Given the description of an element on the screen output the (x, y) to click on. 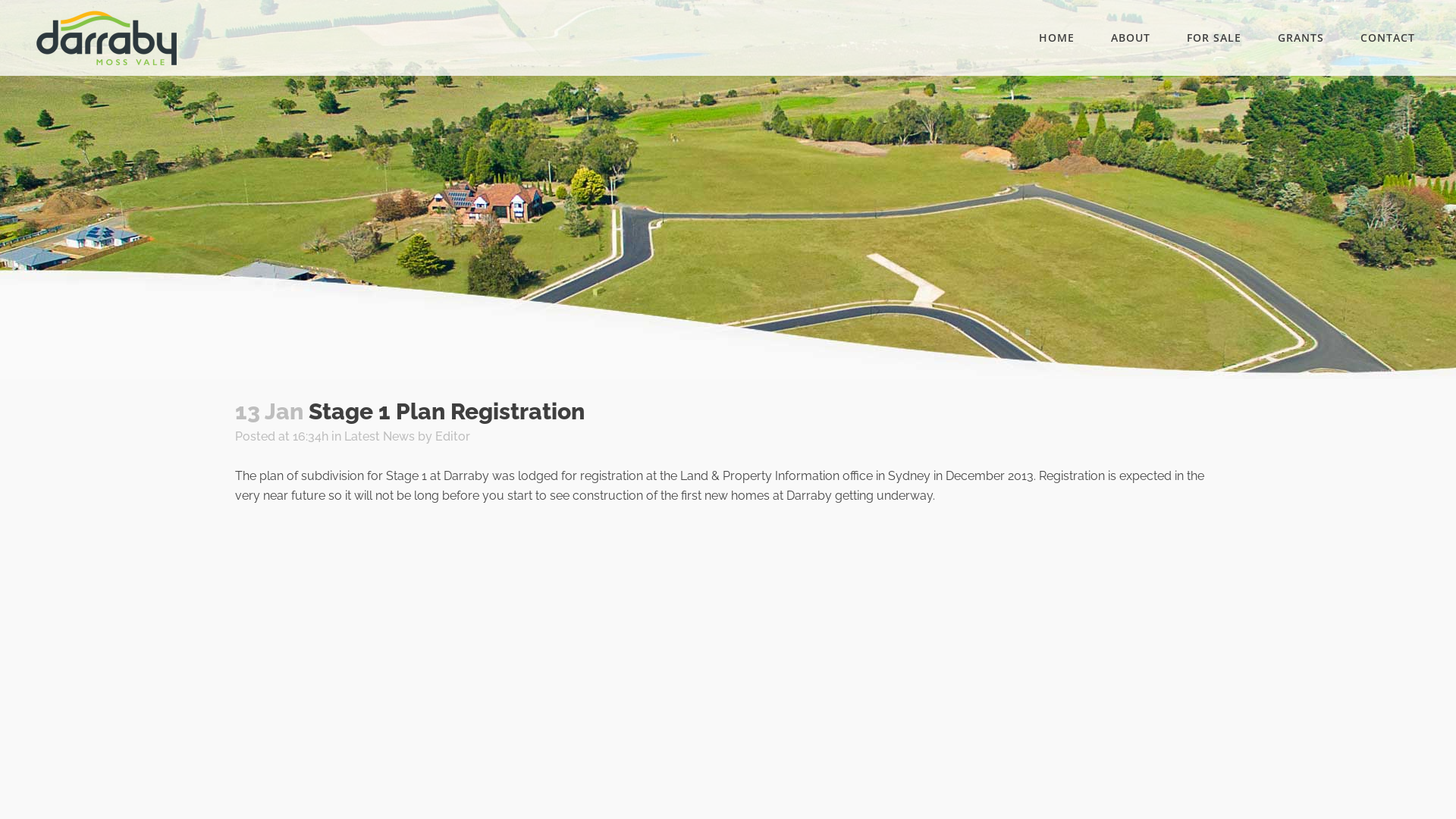
Latest News Element type: text (379, 436)
Editor Element type: text (452, 436)
HOME Element type: text (1056, 37)
FOR SALE Element type: text (1213, 37)
CONTACT Element type: text (1387, 37)
GRANTS Element type: text (1300, 37)
ABOUT Element type: text (1130, 37)
